Given the description of an element on the screen output the (x, y) to click on. 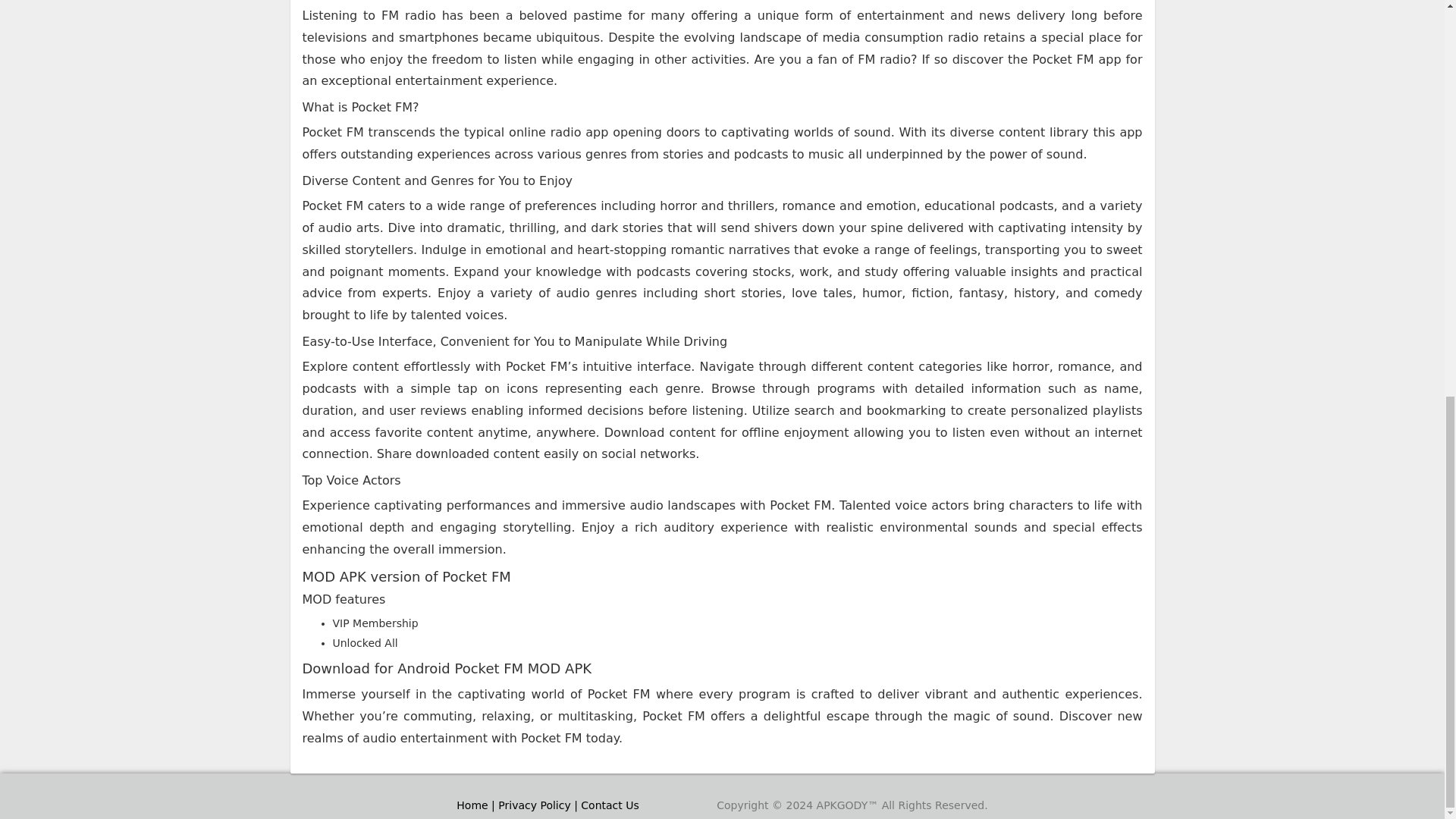
Contact Us (609, 805)
